Given the description of an element on the screen output the (x, y) to click on. 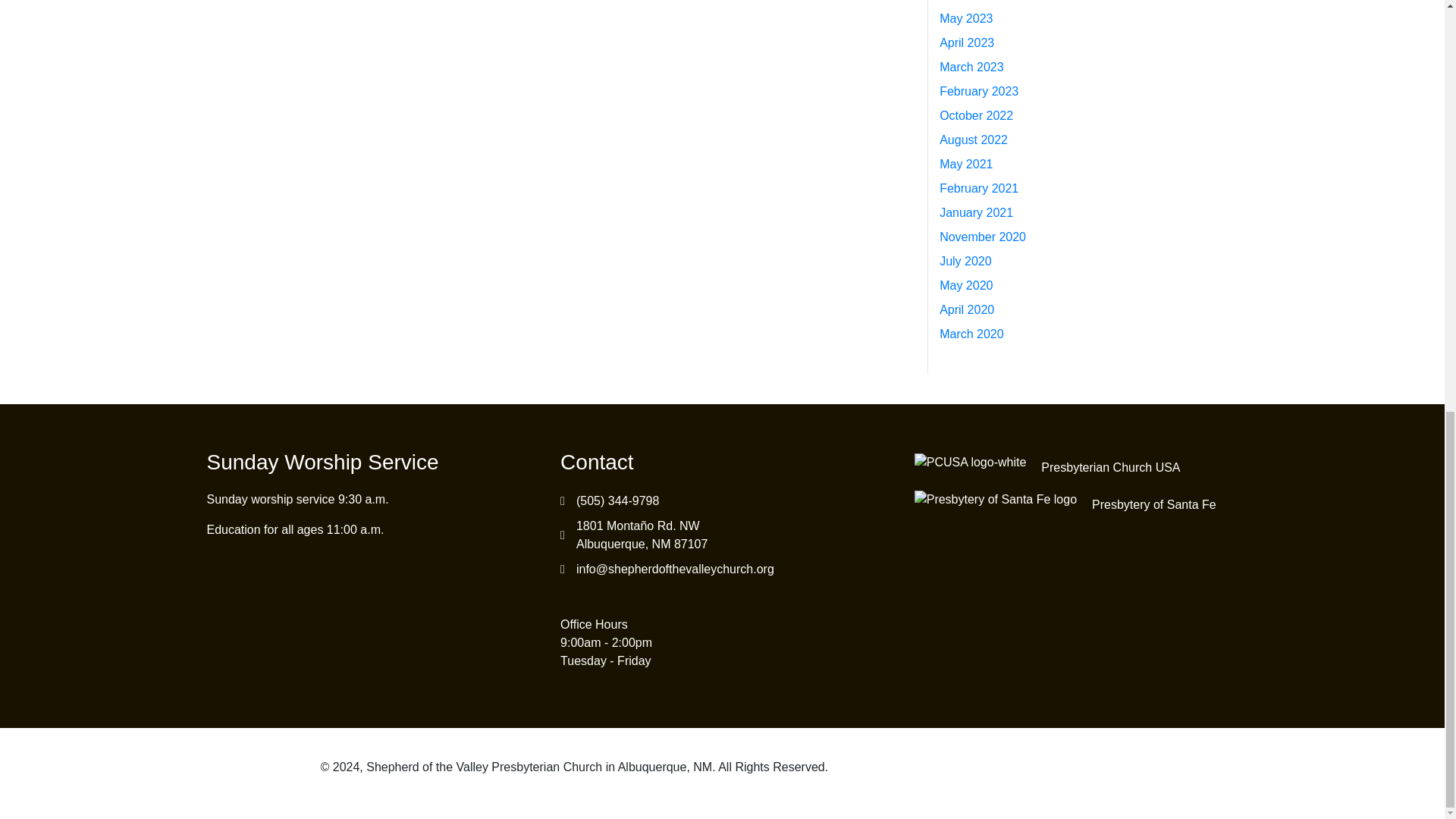
March 2023 (971, 66)
October 2022 (976, 115)
February 2023 (978, 91)
April 2023 (966, 42)
May 2023 (965, 18)
June 2023 (967, 0)
